Given the description of an element on the screen output the (x, y) to click on. 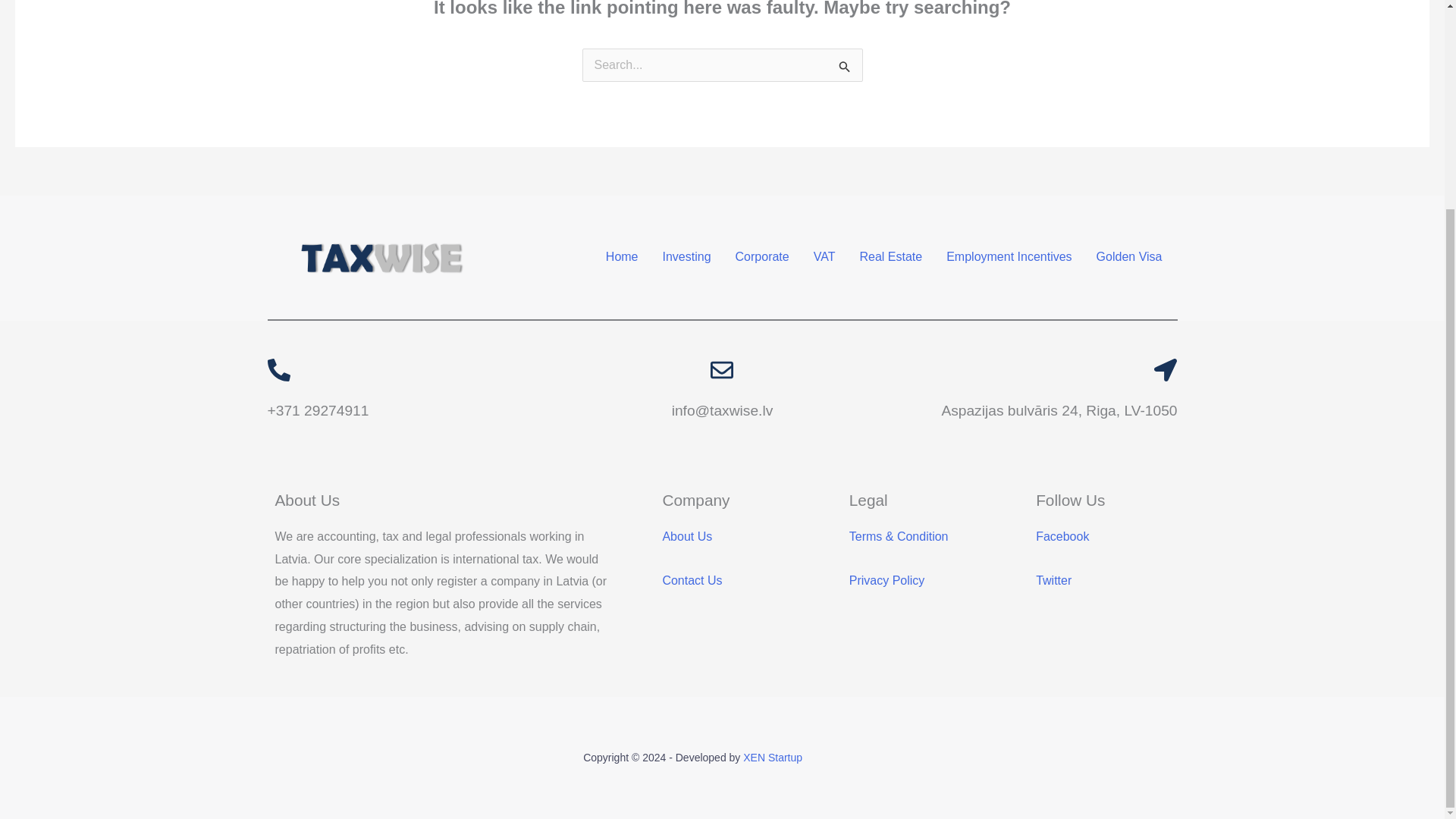
About Us (686, 535)
Home (622, 256)
VAT (824, 256)
Investing (686, 256)
Contact Us (692, 580)
Facebook (1062, 535)
Real Estate (890, 256)
Privacy Policy (886, 580)
Employment Incentives (1008, 256)
Golden Visa (1129, 256)
